Given the description of an element on the screen output the (x, y) to click on. 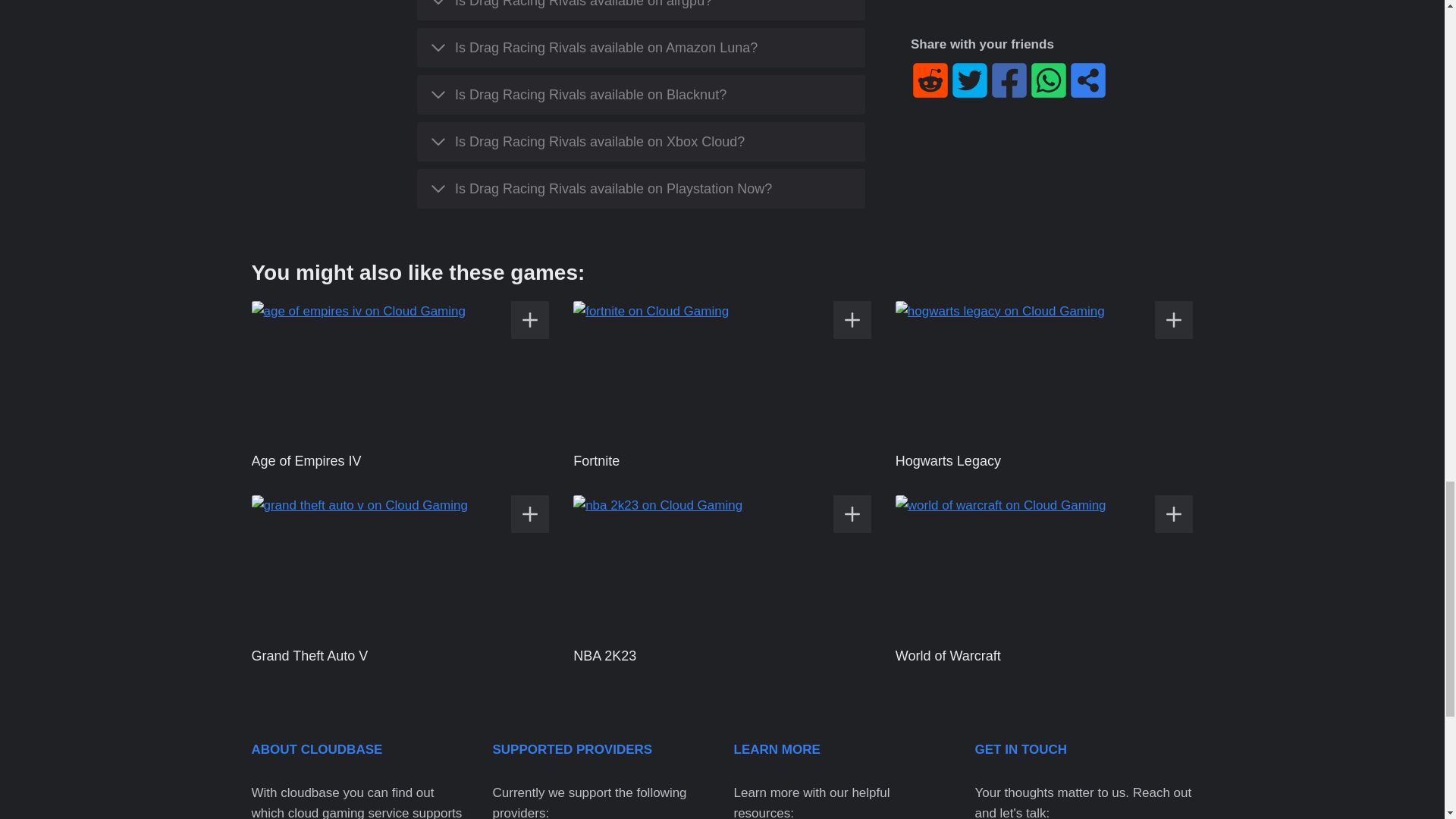
Hogwarts Legacy 5 (1044, 370)
World of Warcraft 8 (1044, 564)
NBA 2K23 7 (721, 564)
Age of Empires IV 3 (400, 370)
Grand Theft Auto V 6 (400, 564)
Fortnite 4 (721, 370)
